Given the description of an element on the screen output the (x, y) to click on. 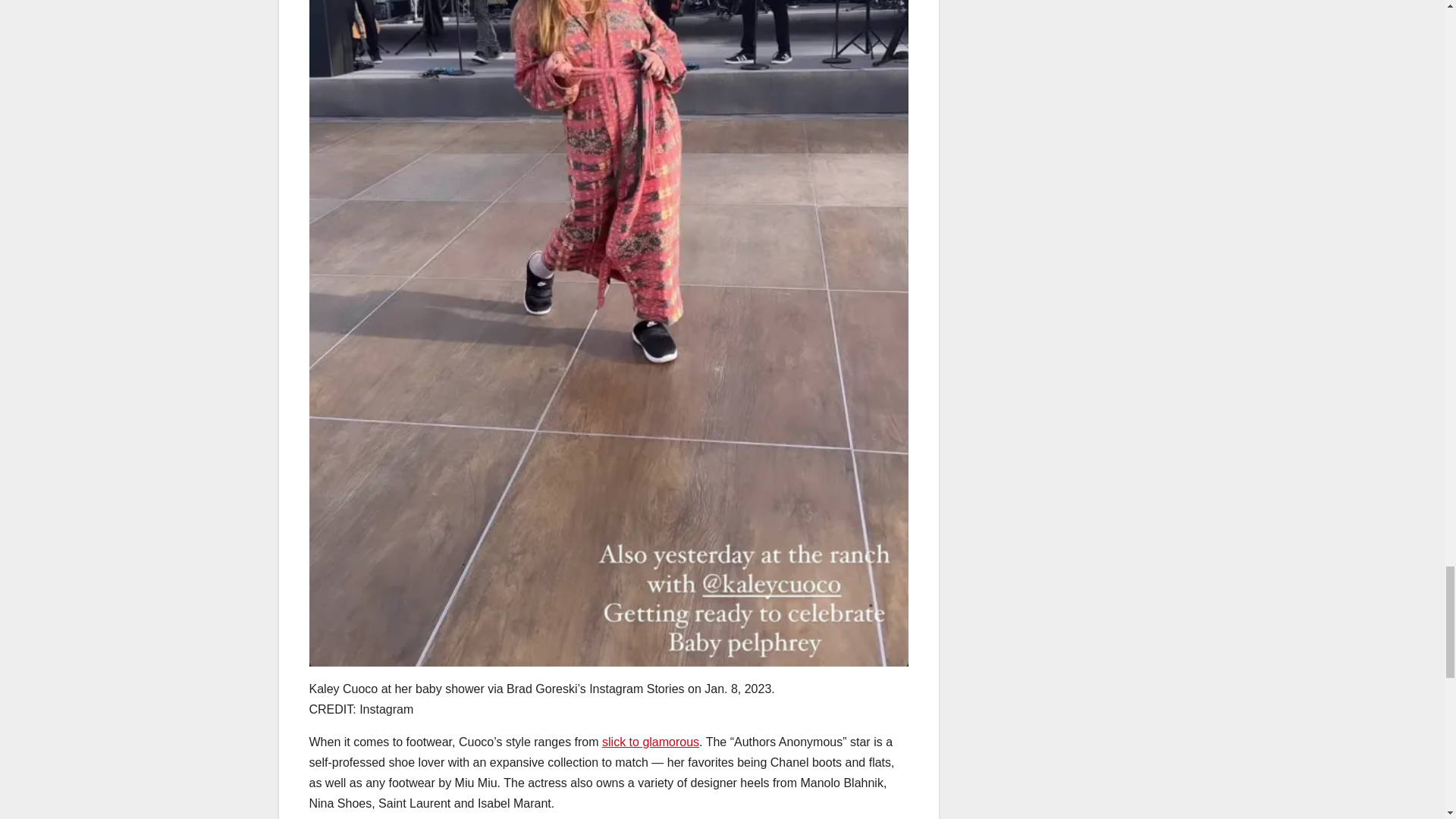
slick to glamorous (650, 741)
